Given the description of an element on the screen output the (x, y) to click on. 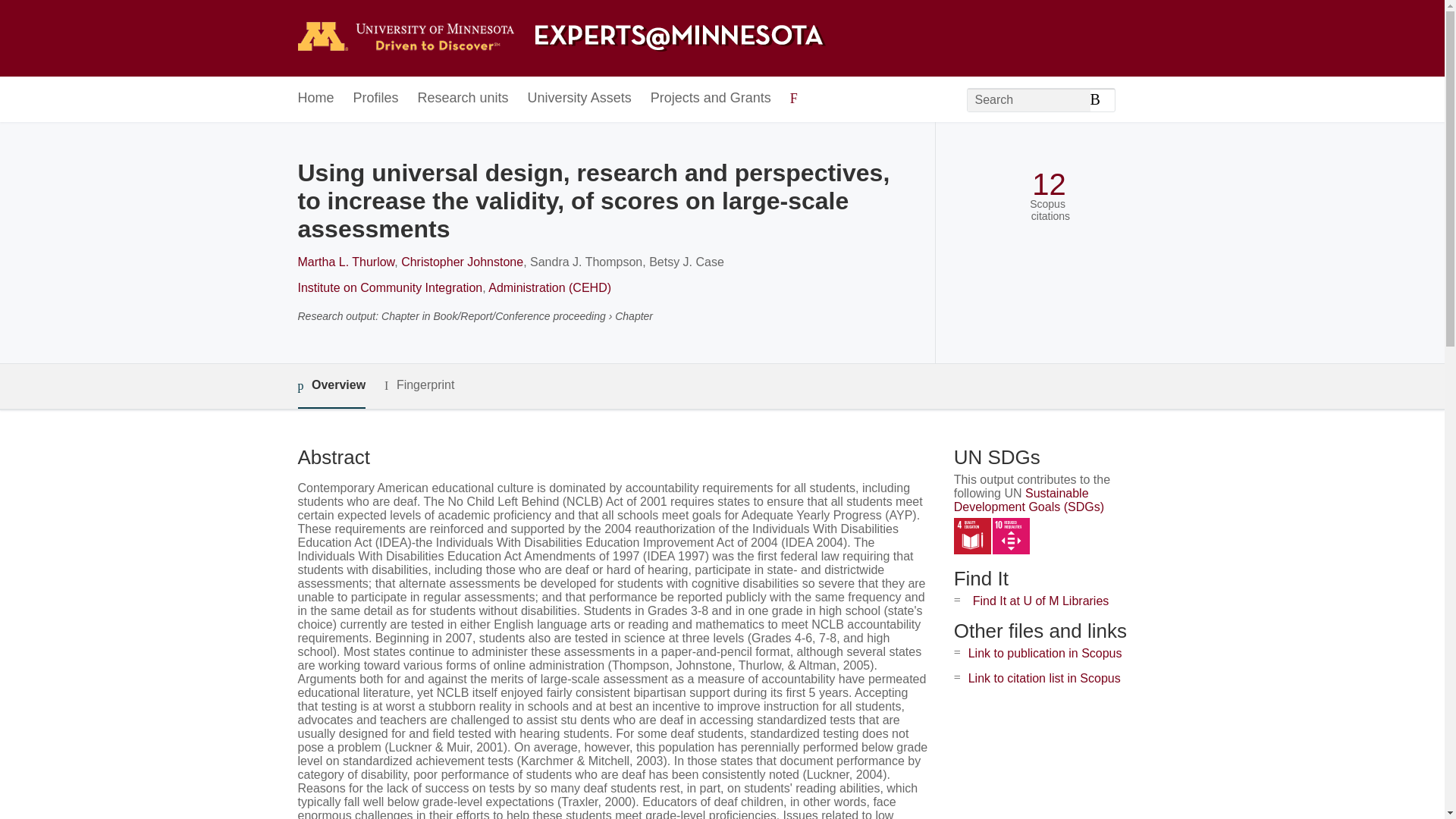
University Assets (579, 98)
Find It at U of M Libraries (1040, 600)
SDG 10 - Reduced Inequalities (1010, 536)
Christopher Johnstone (461, 261)
Projects and Grants (710, 98)
SDG 4 - Quality Education (972, 536)
Link to citation list in Scopus (1044, 677)
Martha L. Thurlow (345, 261)
Research units (462, 98)
Link to publication in Scopus (1045, 653)
Profiles (375, 98)
Overview (331, 385)
Fingerprint (419, 385)
12 (1048, 184)
